Given the description of an element on the screen output the (x, y) to click on. 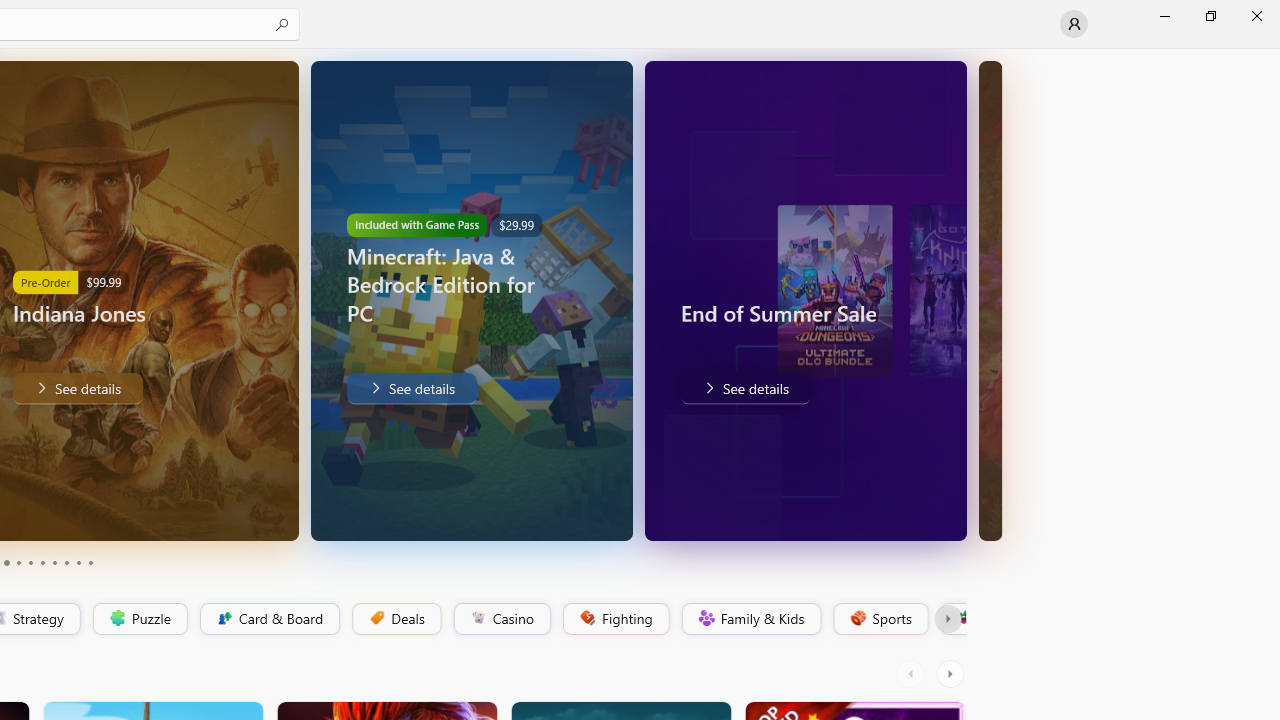
Family & Kids (750, 619)
Casino (501, 619)
Sports (879, 619)
Page 9 (77, 562)
Puzzle (139, 619)
AutomationID: LeftScrollButton (913, 673)
AutomationID: Image (989, 300)
Platformer (952, 619)
Page 4 (17, 562)
End of Summer Sale. Save up to 80%.  . See details (744, 387)
Page 5 (29, 562)
